Given the description of an element on the screen output the (x, y) to click on. 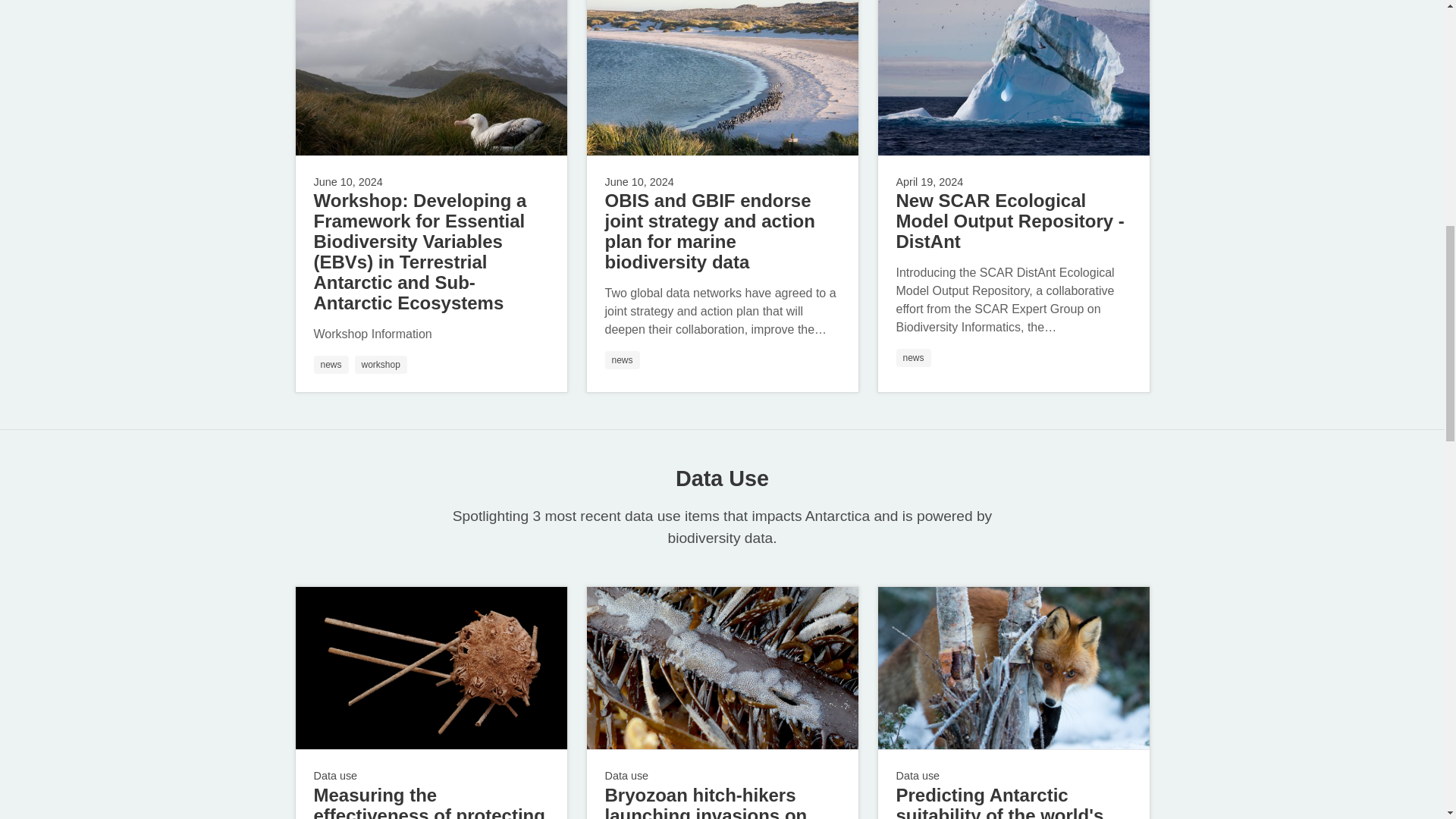
workshop (381, 364)
Membranipora membranacea (722, 668)
Ctenocidaris perrieri (431, 668)
fox (1013, 668)
news (622, 360)
news (331, 364)
